Given the description of an element on the screen output the (x, y) to click on. 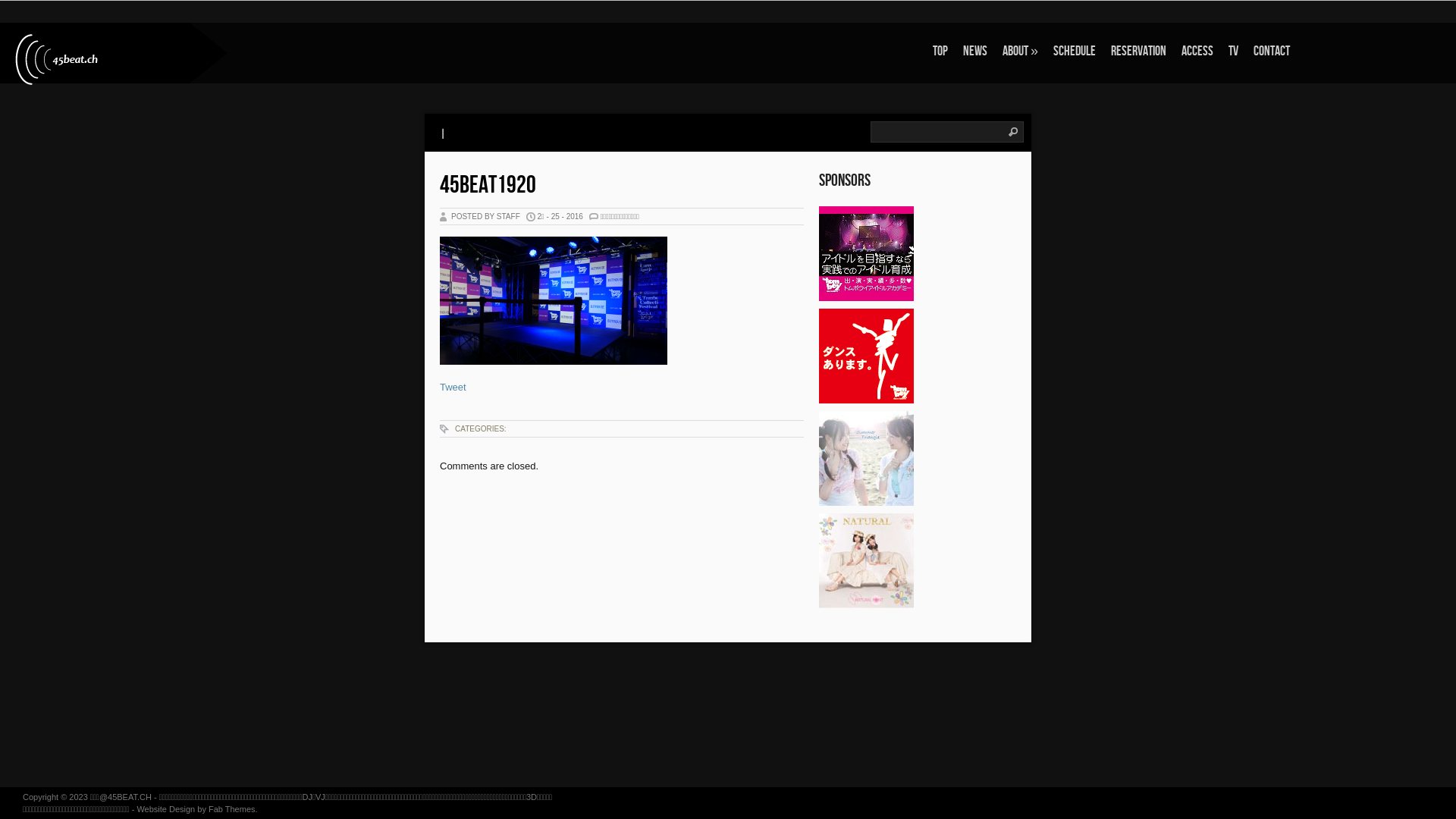
Fab Themes Element type: text (231, 808)
Tweet Element type: text (452, 386)
TOP Element type: text (940, 51)
Website Design Element type: text (165, 808)
NEWS Element type: text (974, 51)
TV Element type: text (1232, 51)
ACCESS Element type: text (1196, 51)
SCHEDULE Element type: text (1074, 51)
CONTACT Element type: text (1271, 51)
45BEAT1920 Element type: text (487, 185)
RESERVATION Element type: text (1138, 51)
